Given the description of an element on the screen output the (x, y) to click on. 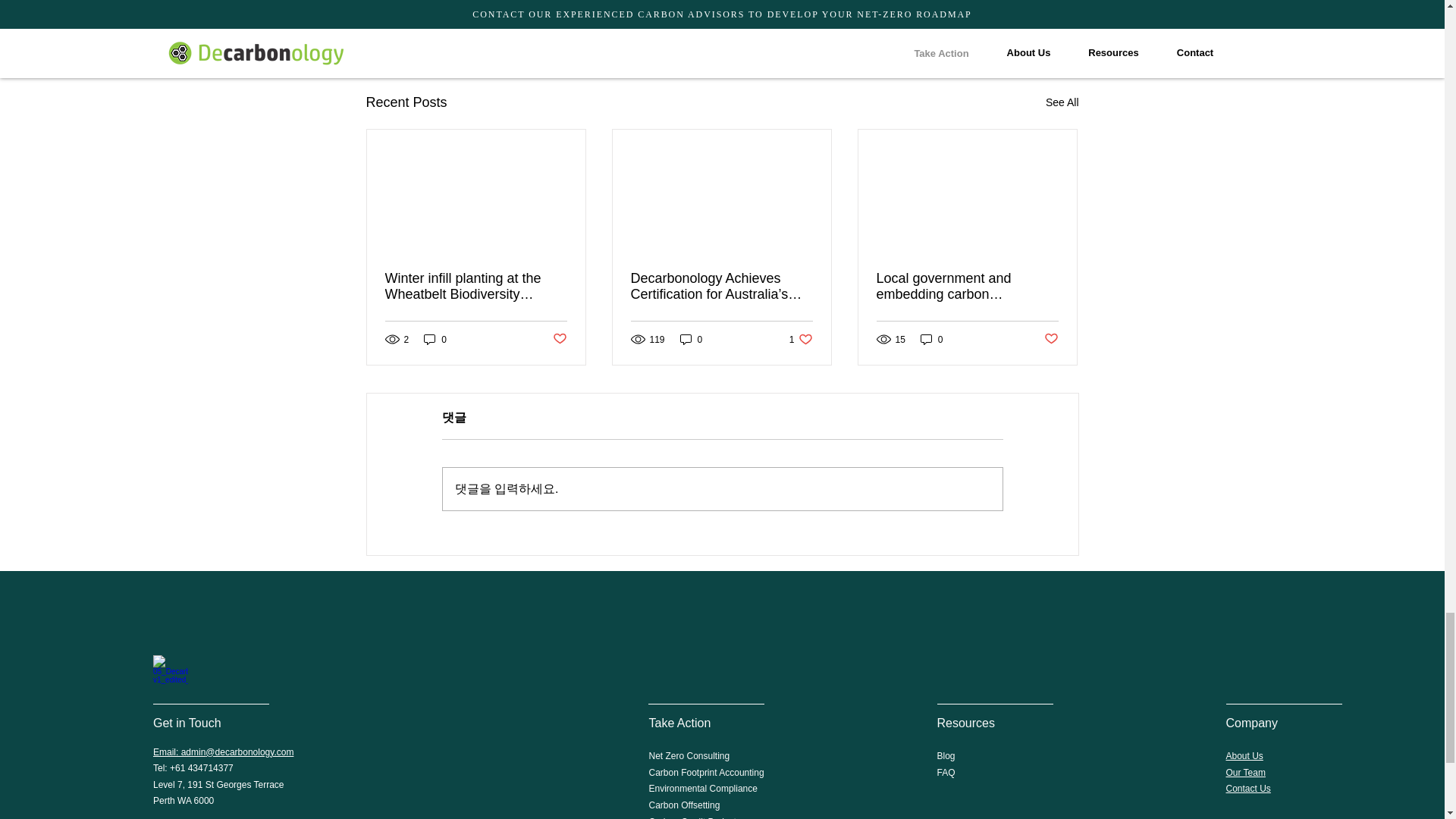
decarbonology logo (169, 672)
0 (691, 339)
See All (1061, 102)
Post not marked as liked (995, 19)
Post not marked as liked (800, 339)
0 (558, 339)
